Given the description of an element on the screen output the (x, y) to click on. 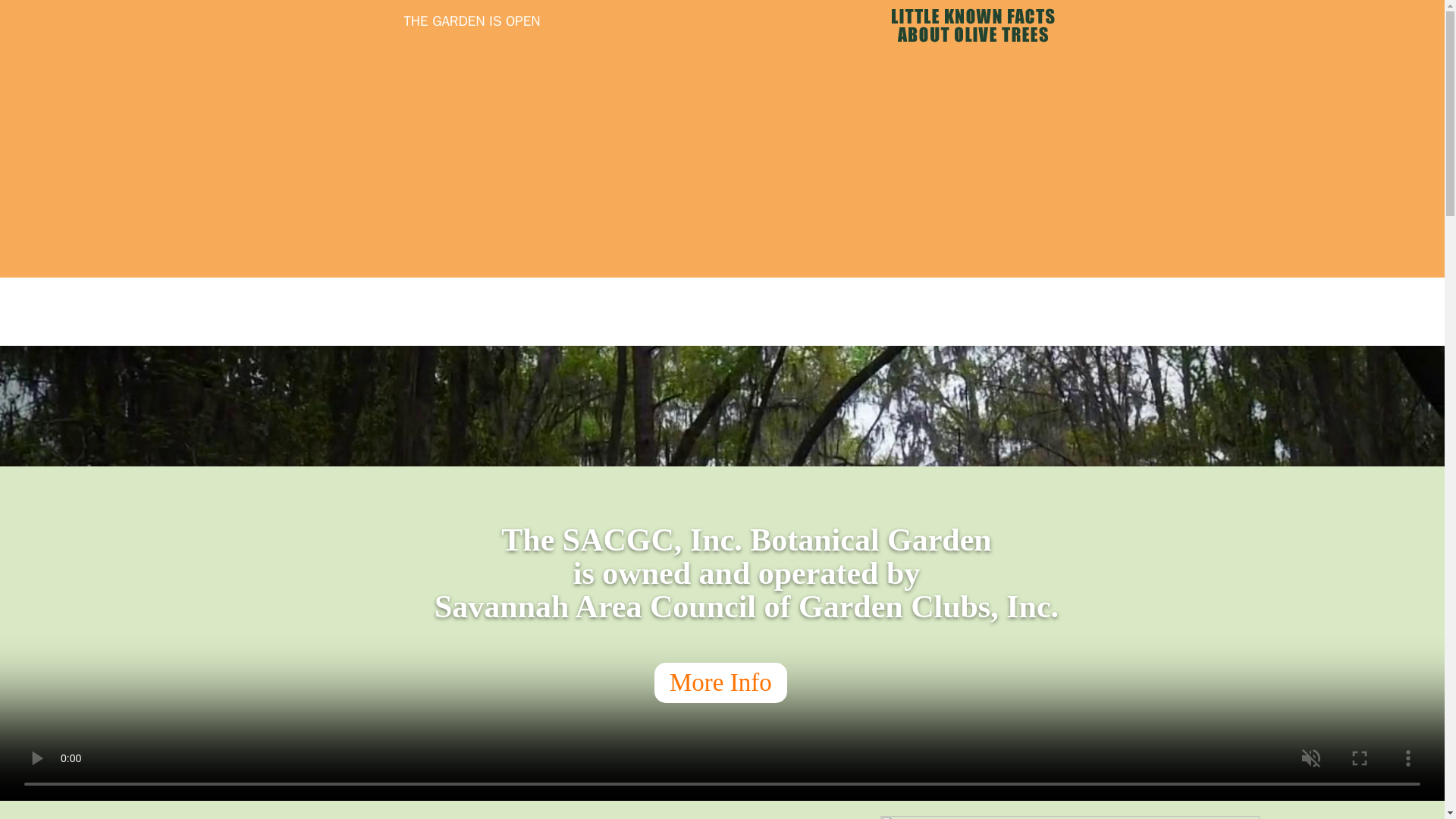
PLANT SALE (1343, 311)
GARDEN CLUBS (1113, 311)
More Info (720, 682)
REINHARD HOUSE (864, 311)
CONTACT (1205, 311)
